Given the description of an element on the screen output the (x, y) to click on. 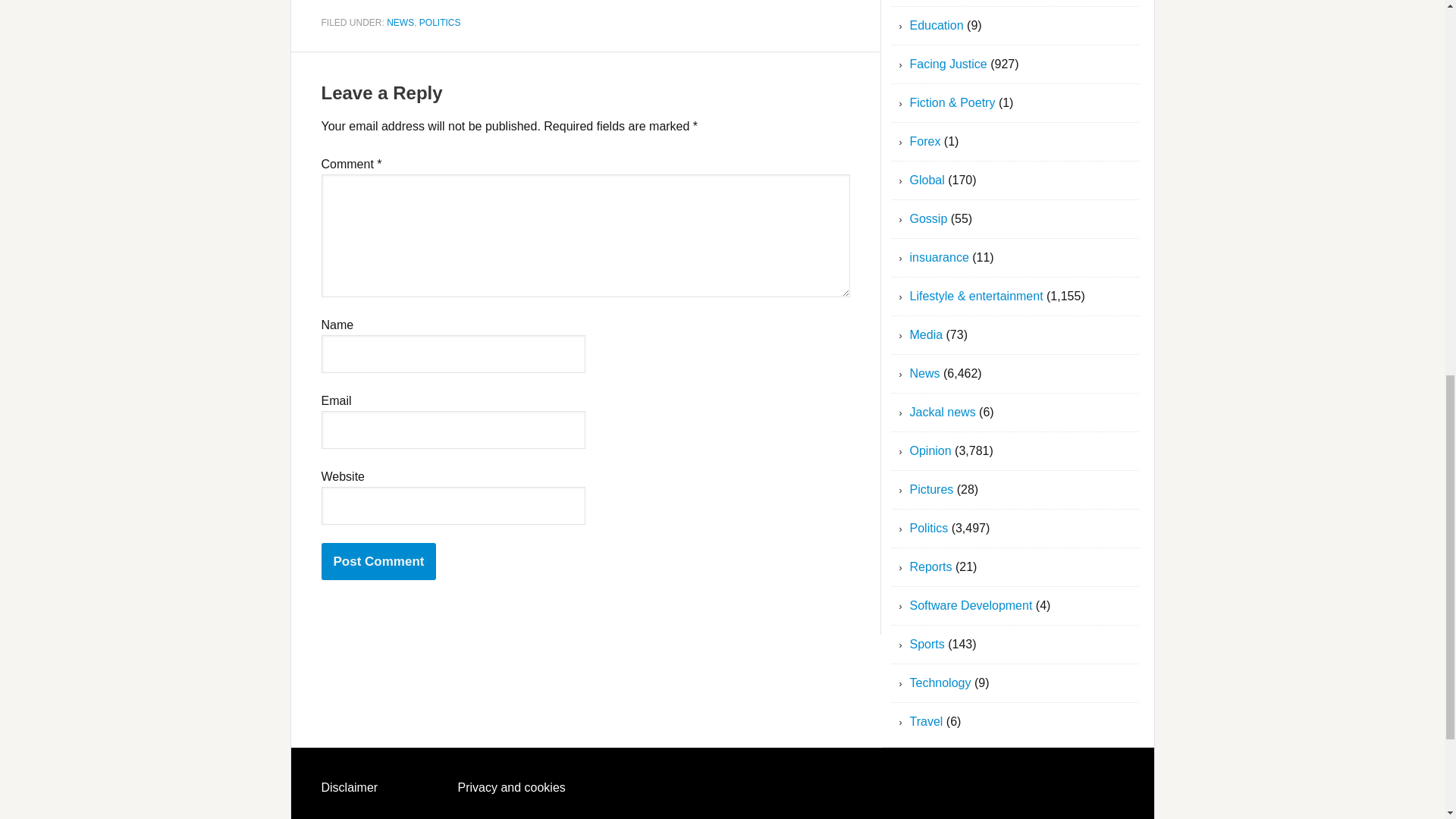
Forex (925, 141)
Gossip (928, 218)
Global (927, 179)
insuarance (939, 256)
Jackal news (942, 411)
Politics (929, 527)
NEWS (400, 21)
News (925, 373)
Pictures (931, 489)
Education (936, 24)
